Given the description of an element on the screen output the (x, y) to click on. 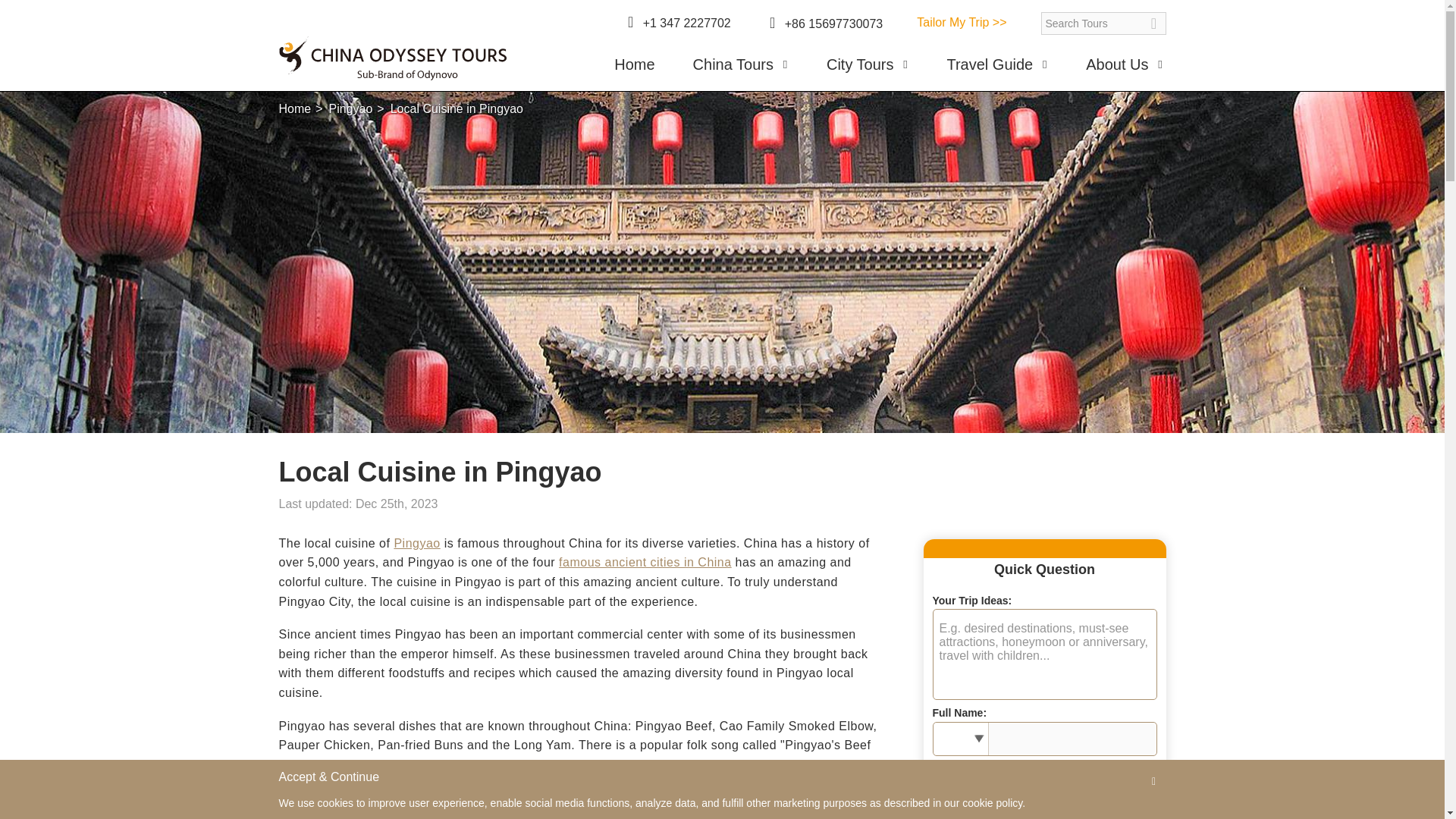
Home (633, 70)
City Tours (868, 70)
China Tours (741, 70)
Travel Guide (997, 70)
